Given the description of an element on the screen output the (x, y) to click on. 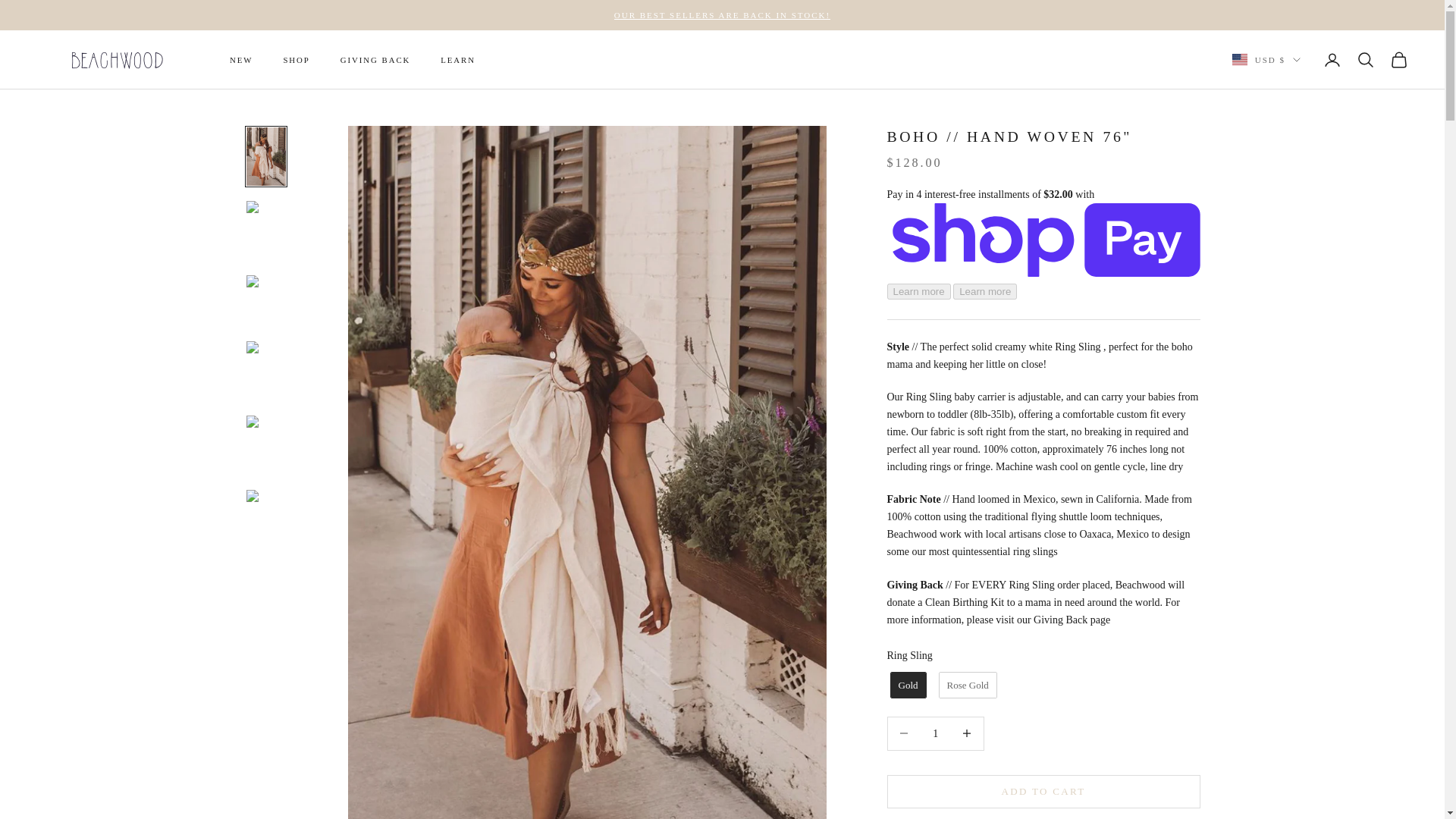
Restocked (721, 14)
OUR BEST SELLERS ARE BACK IN STOCK! (721, 14)
Beachwood Baby (117, 59)
NEW (240, 59)
1 (935, 733)
